Given the description of an element on the screen output the (x, y) to click on. 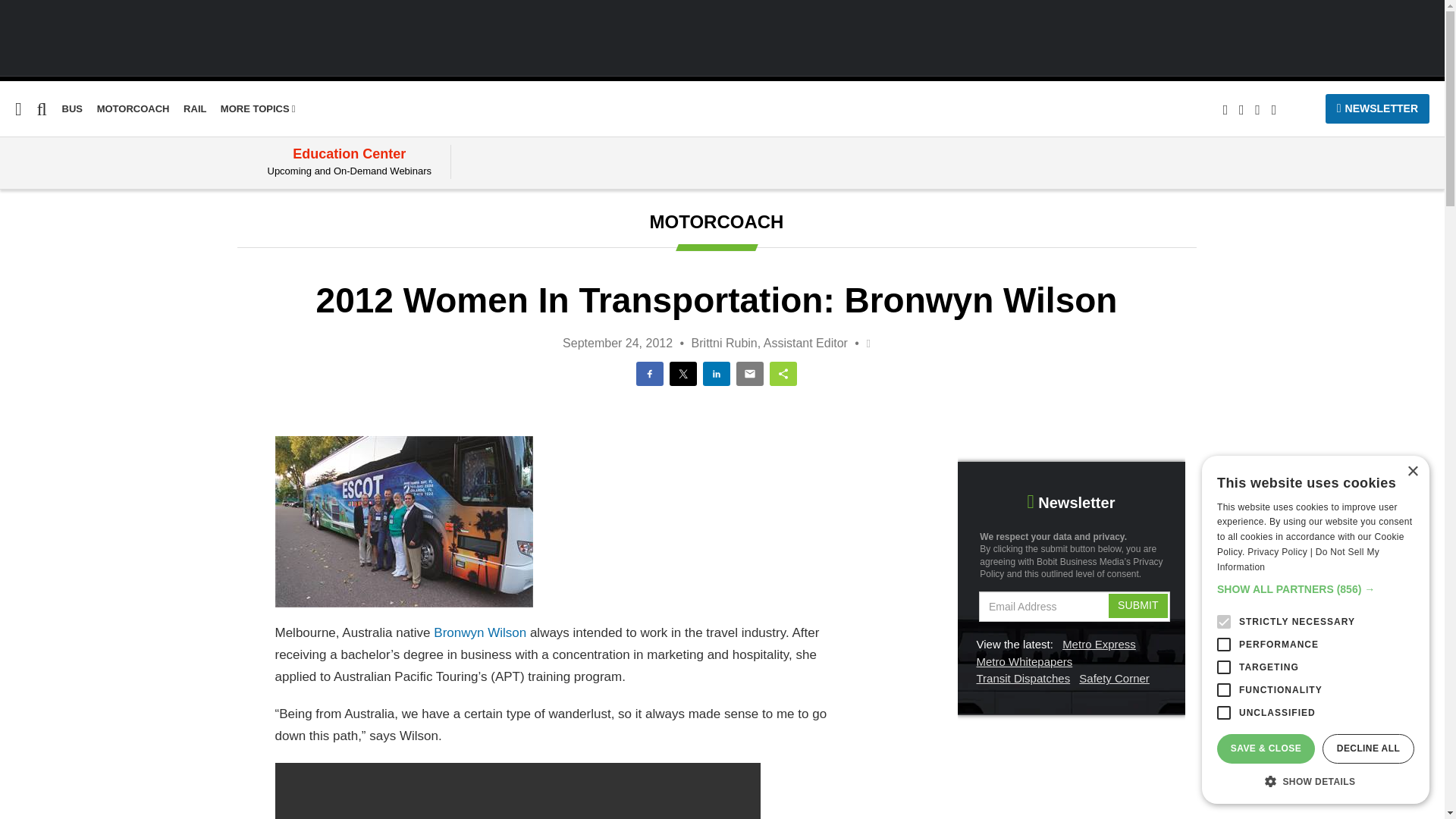
Security and Safety (58, 323)
MORE TOPICS (258, 108)
Paratransit (32, 264)
Rail (10, 236)
Management (37, 293)
MOTORCOACH (133, 108)
Management (37, 293)
Security and Safety (58, 323)
Rail (194, 108)
Bus (10, 206)
Rail (10, 236)
Bus (72, 108)
Bus (10, 206)
Motorcoach (133, 108)
RAIL (194, 108)
